Given the description of an element on the screen output the (x, y) to click on. 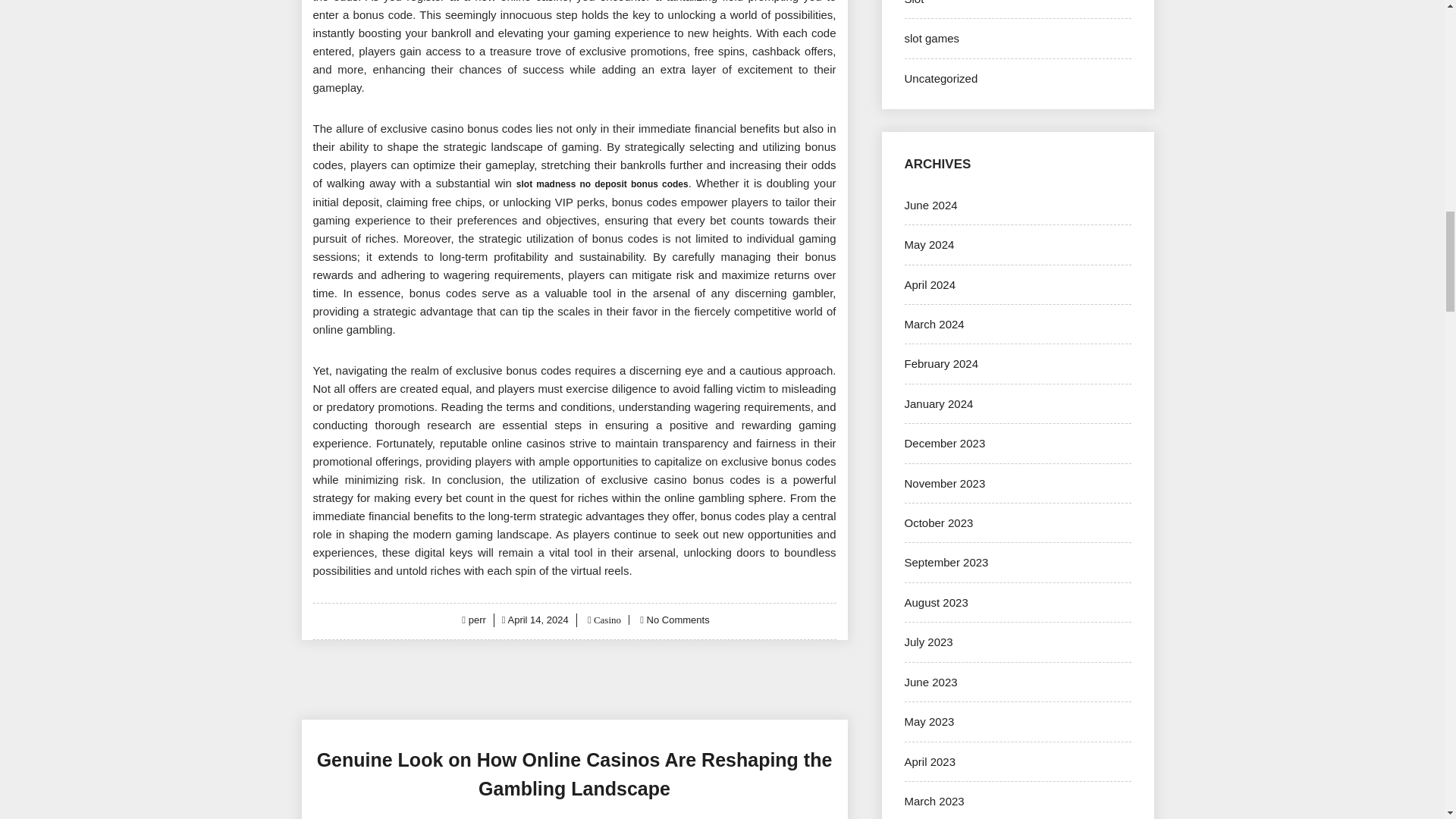
perr (477, 619)
No Comments (678, 619)
Casino (606, 619)
April 14, 2024 (538, 619)
slot madness no deposit bonus codes (602, 182)
